Given the description of an element on the screen output the (x, y) to click on. 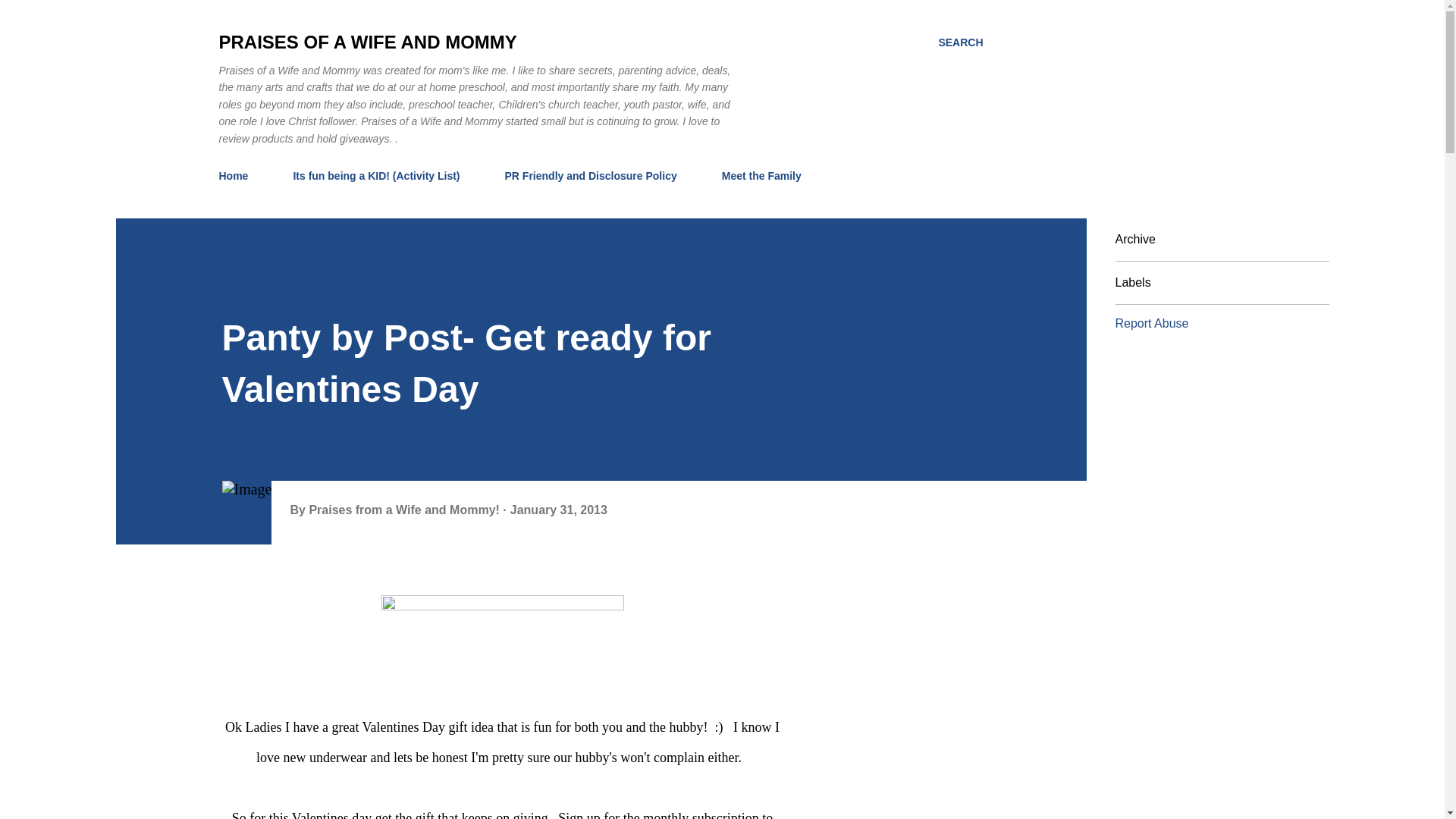
PR Friendly and Disclosure Policy (590, 175)
Meet the Family (761, 175)
PRAISES OF A WIFE AND MOMMY (367, 41)
SEARCH (959, 42)
permanent link (559, 509)
Home (237, 175)
January 31, 2013 (559, 509)
